Given the description of an element on the screen output the (x, y) to click on. 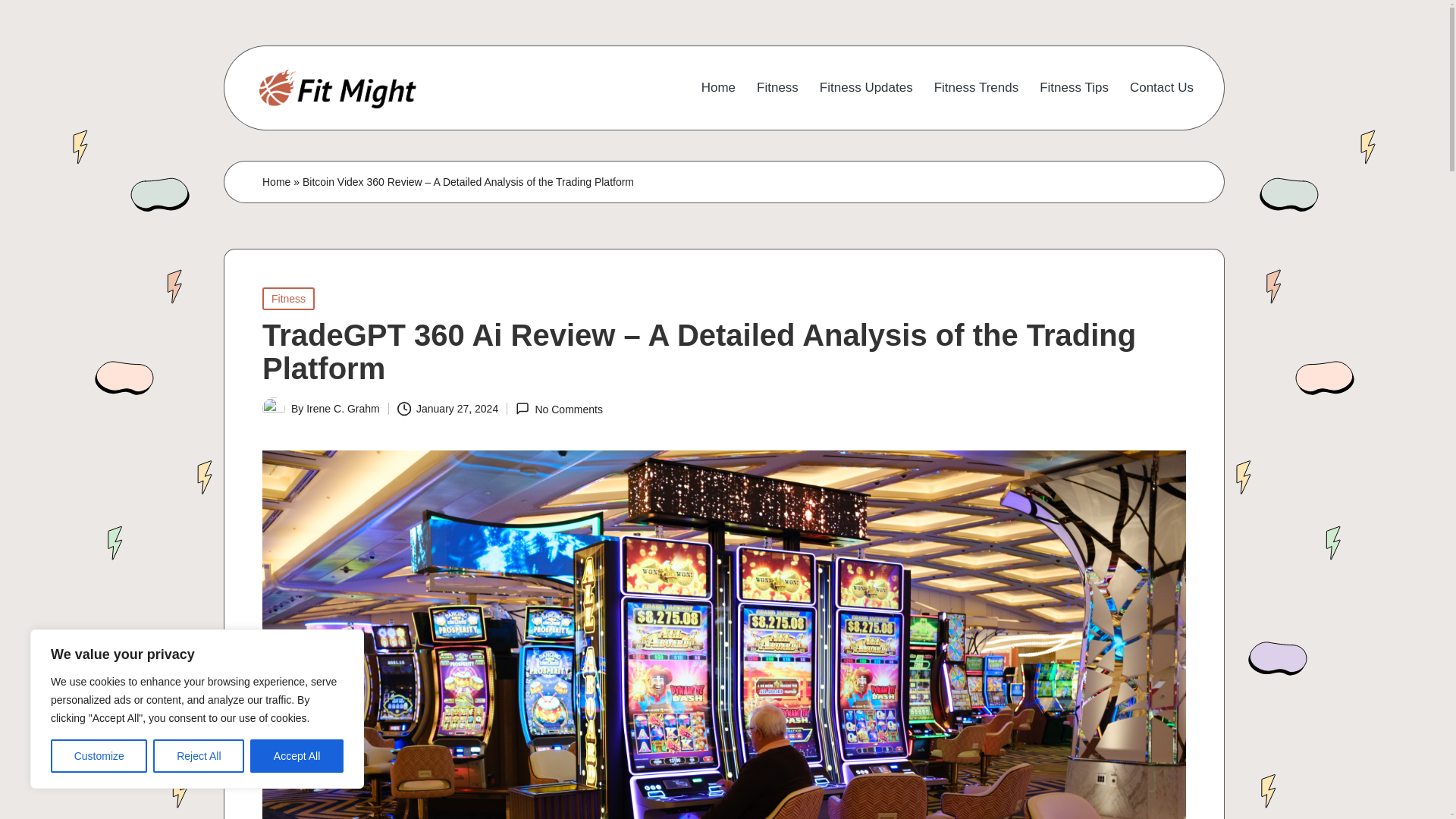
Home (275, 181)
Fitness (288, 298)
Fitness Trends (976, 87)
Customize (98, 756)
Fitness (777, 87)
Fitness Tips (1073, 87)
Reject All (198, 756)
Accept All (296, 756)
Home (718, 87)
No Comments (558, 409)
Fitness Updates (865, 87)
View all posts by Irene C. Grahm (341, 408)
Contact Us (1161, 87)
Irene C. Grahm (341, 408)
